Given the description of an element on the screen output the (x, y) to click on. 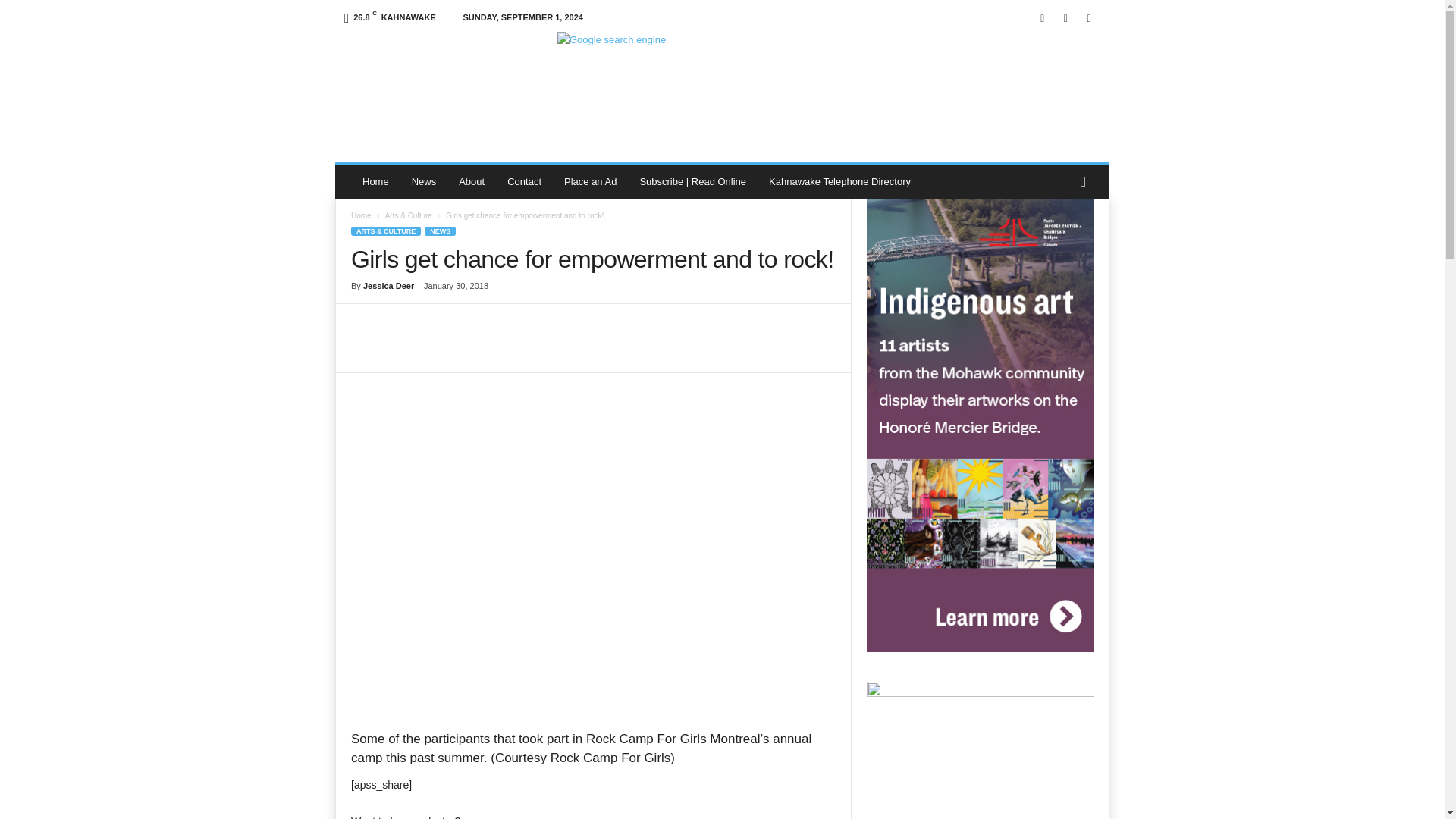
News (424, 182)
Home (375, 182)
Home (360, 215)
NEWS (440, 230)
About (471, 182)
Contact (524, 182)
The Eastern Door (437, 74)
Place an Ad (590, 182)
Kahnawake Telephone Directory (839, 182)
